Given the description of an element on the screen output the (x, y) to click on. 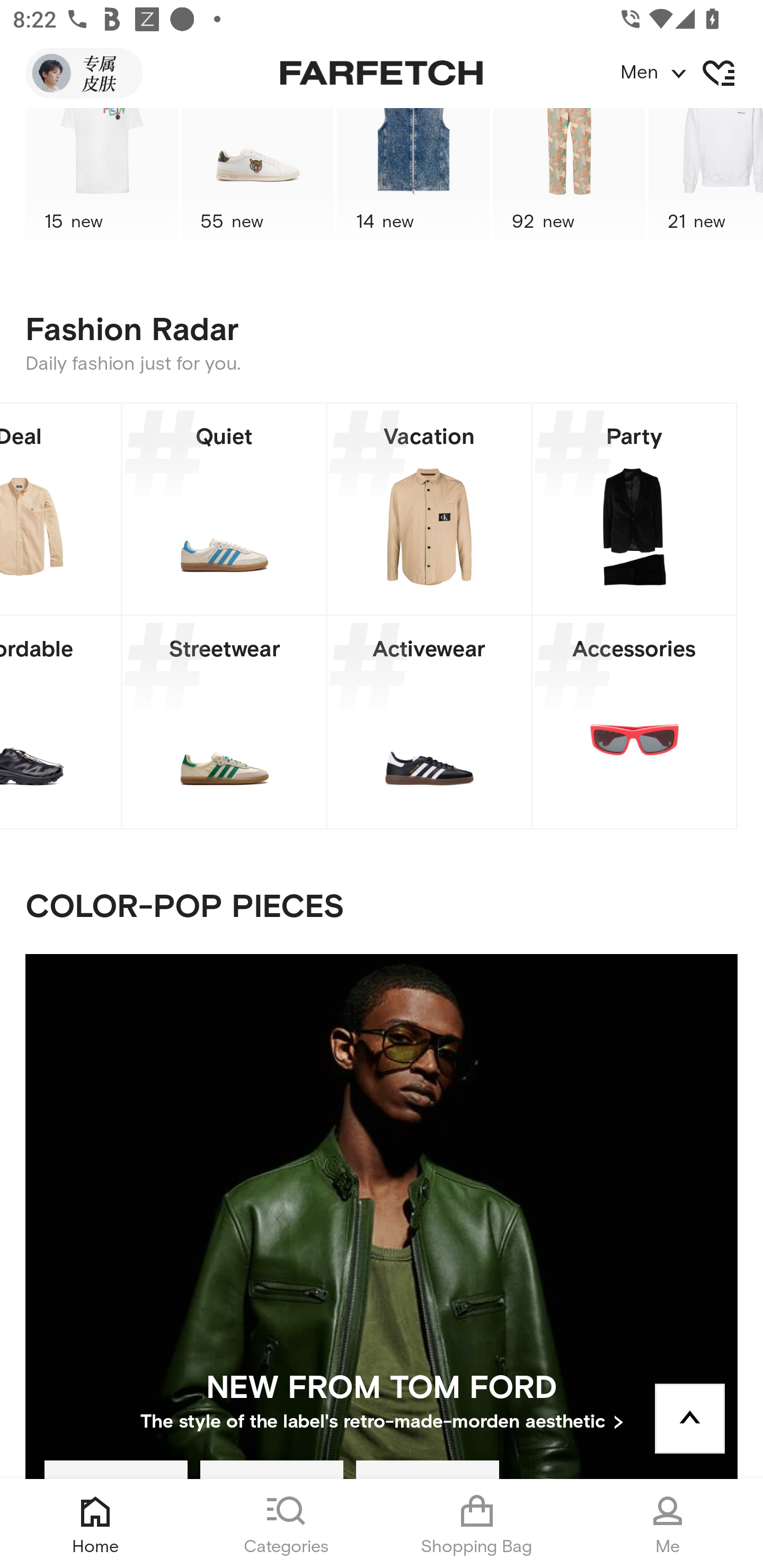
Men (691, 72)
Philipp Plein 15  new (101, 180)
Polo Ralph Lauren 55  new (257, 180)
Diesel 14  new (413, 180)
Acne Studios 92  new (568, 180)
Stone Island 21  new (705, 180)
Deal (60, 508)
Quiet (223, 508)
Vacation (429, 508)
Party (634, 508)
Affordable (60, 721)
Streetwear (223, 721)
Activewear (429, 721)
Accessories (634, 721)
Categories (285, 1523)
Shopping Bag (476, 1523)
Me (667, 1523)
